Given the description of an element on the screen output the (x, y) to click on. 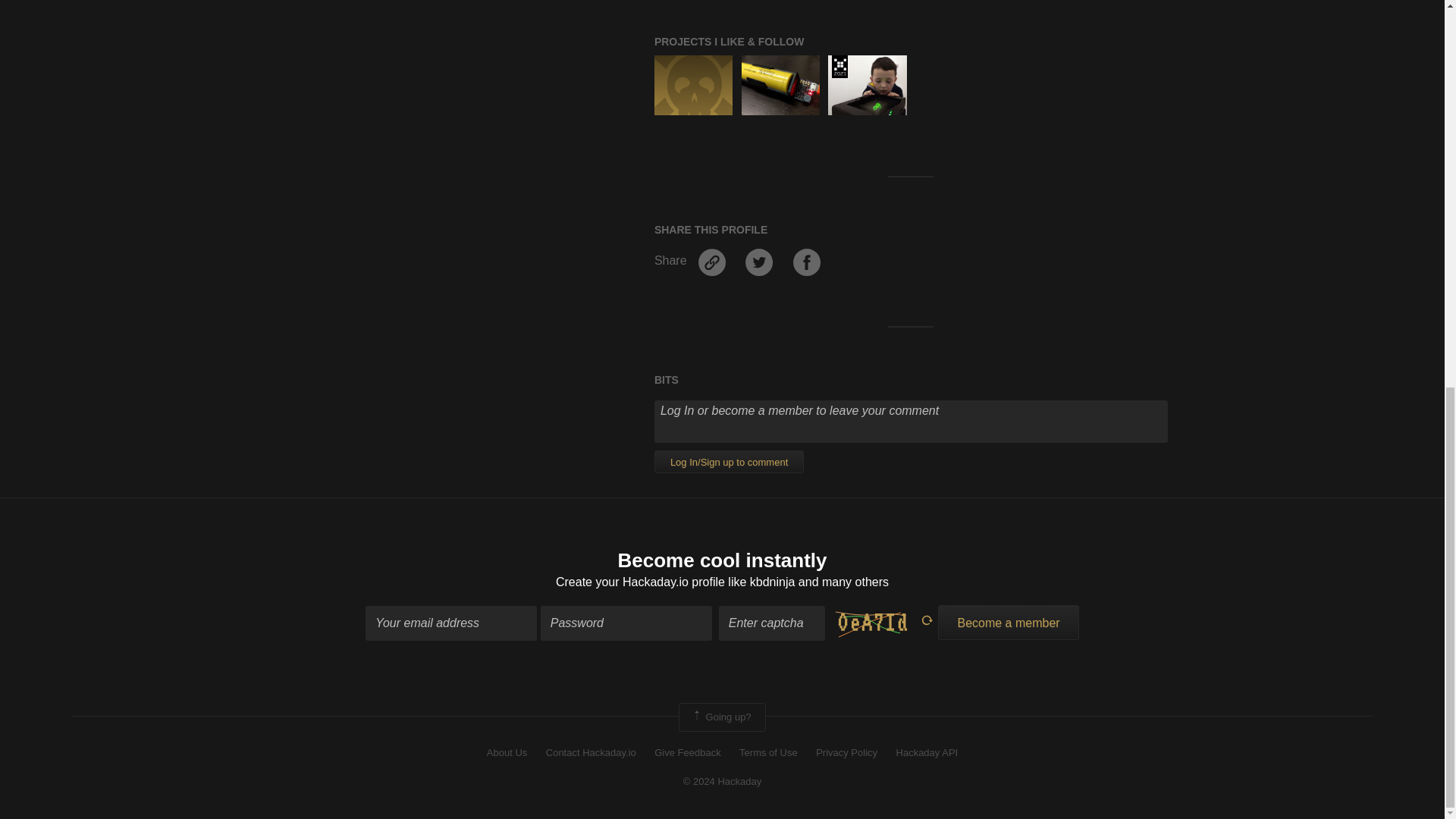
Hackaday.io Project by Lutetium (692, 85)
